Given the description of an element on the screen output the (x, y) to click on. 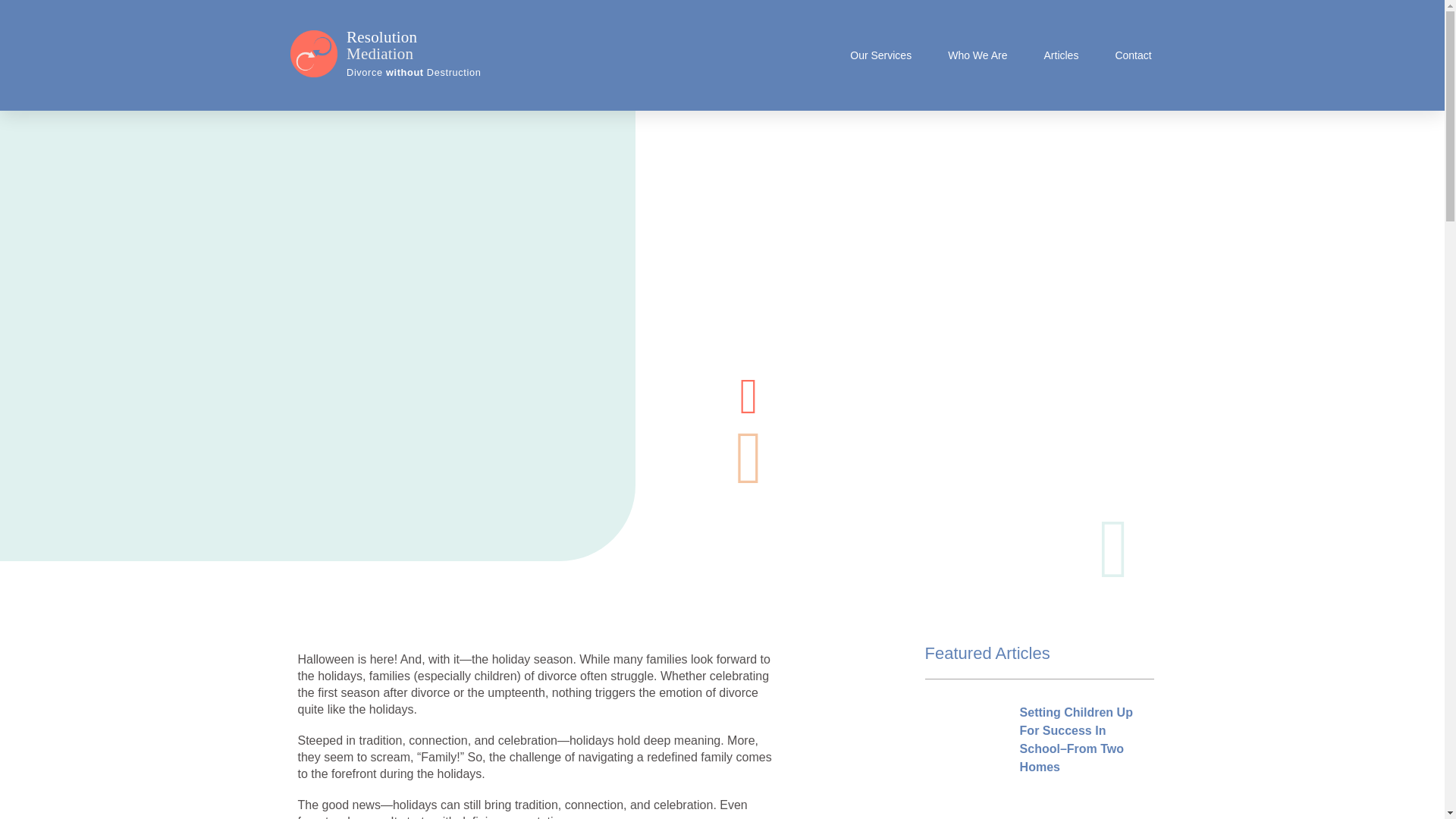
Who We Are (977, 54)
Contact (1133, 54)
Our Services (880, 54)
Articles (1060, 54)
